Given the description of an element on the screen output the (x, y) to click on. 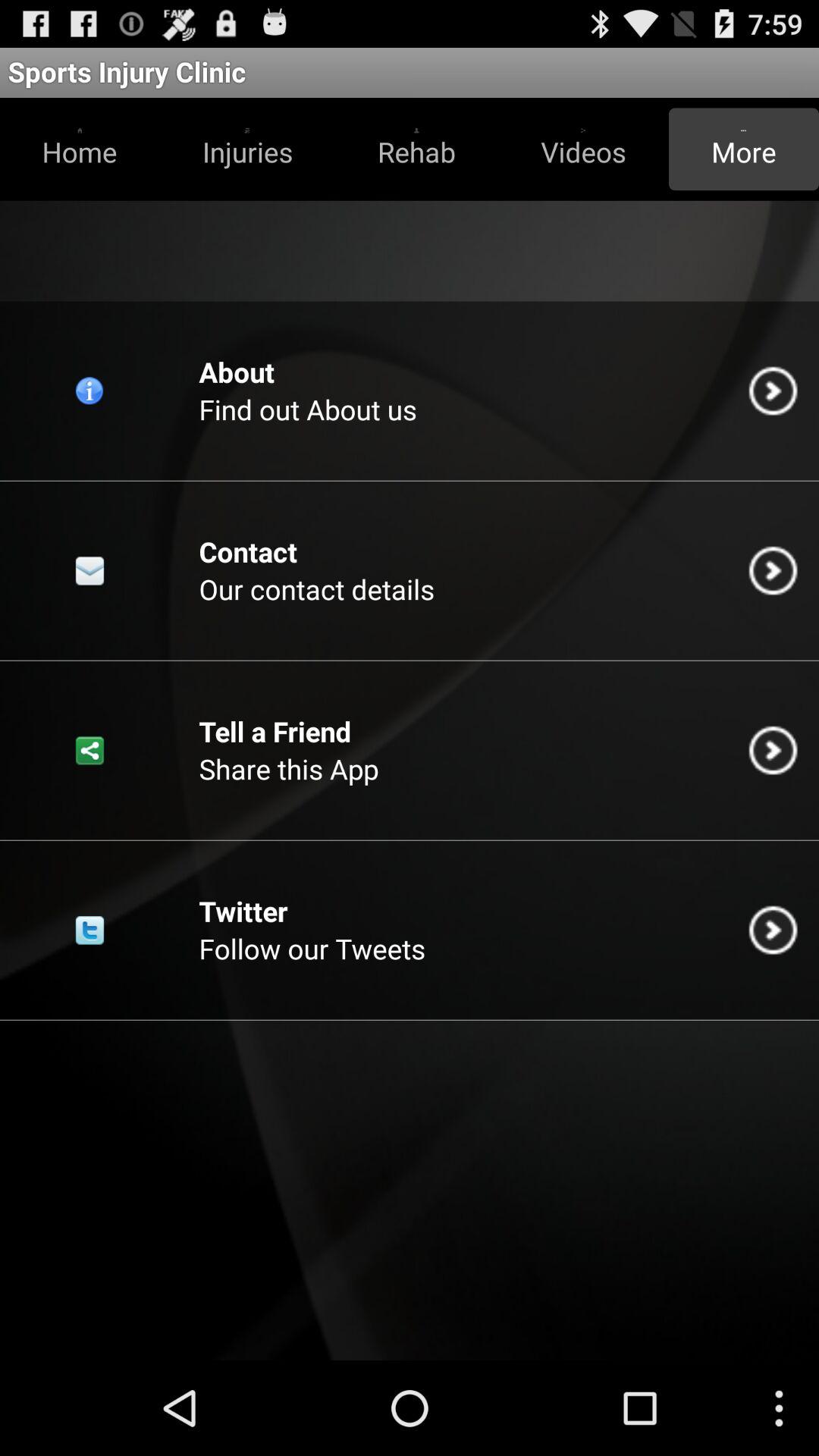
select share this app icon (288, 768)
